Given the description of an element on the screen output the (x, y) to click on. 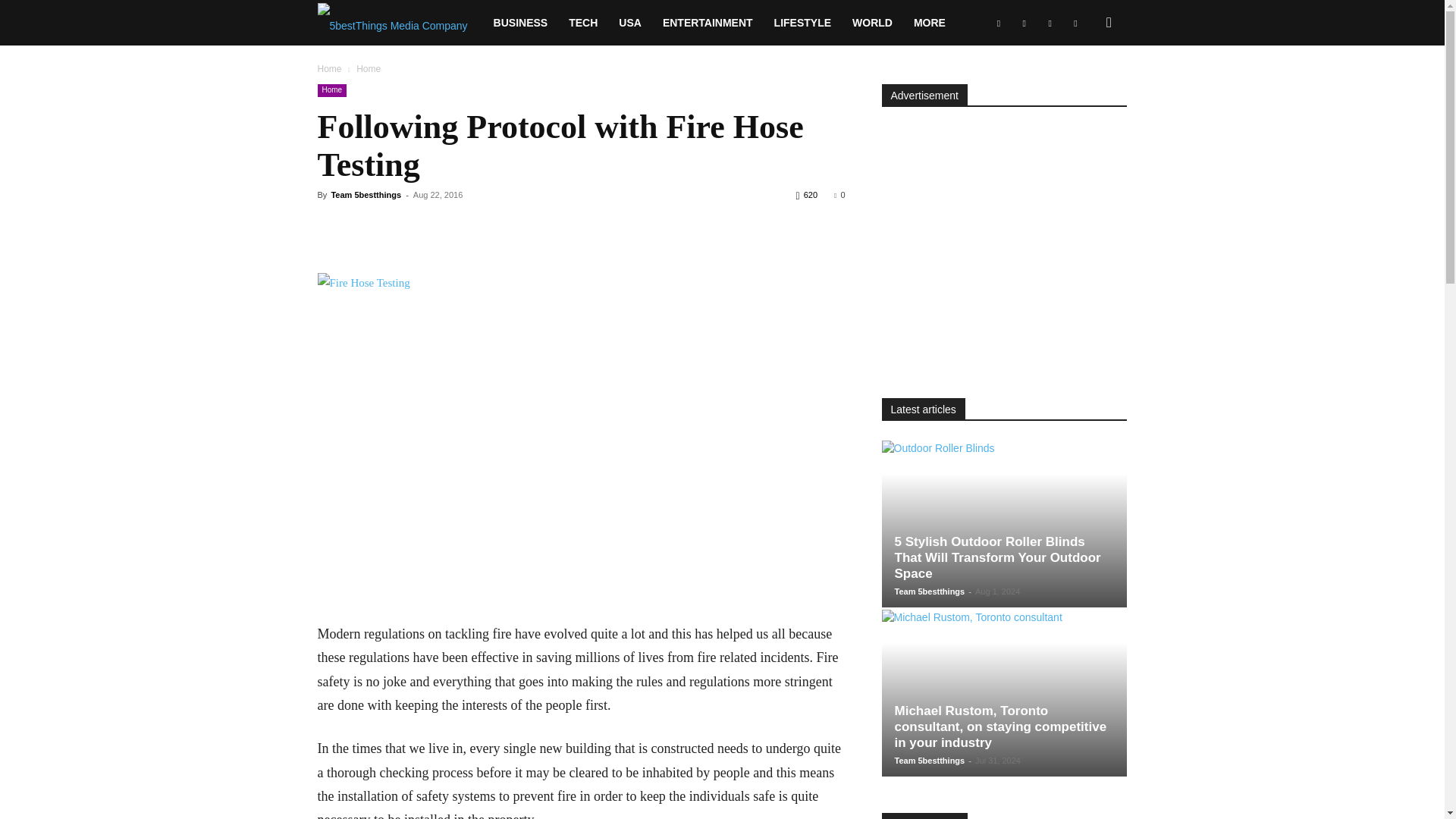
5 Best Things (399, 22)
BUSINESS (521, 22)
5bestThings: Best Tips, Best Advise  (392, 22)
TECH (582, 22)
